Given the description of an element on the screen output the (x, y) to click on. 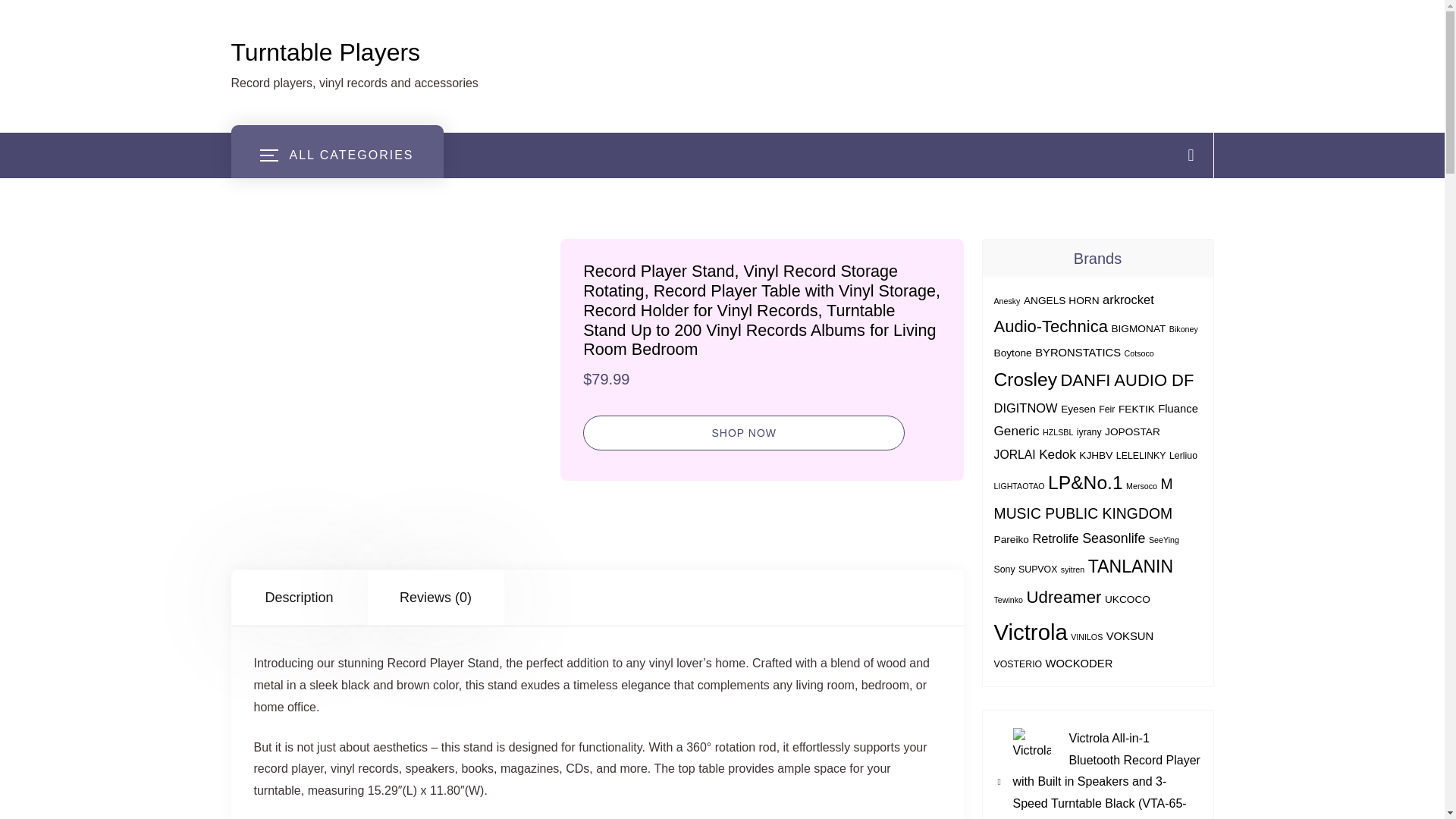
Turntable Players (325, 52)
Anesky (1006, 300)
ANGELS HORN (1061, 300)
Description (298, 597)
ALL CATEGORIES (336, 155)
SHOP NOW (743, 432)
